Given the description of an element on the screen output the (x, y) to click on. 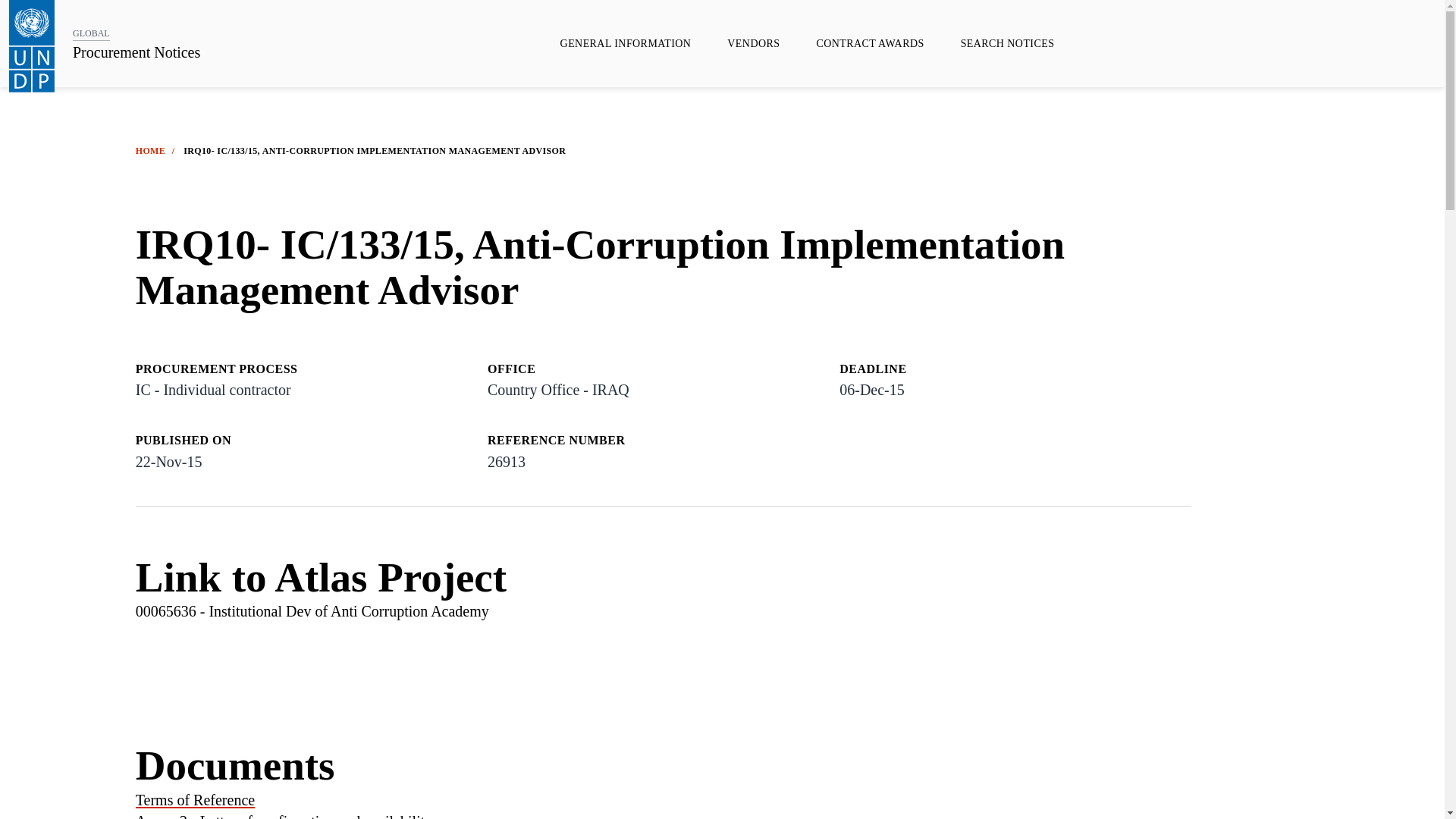
VENDORS (753, 43)
GLOBAL (91, 32)
Terms of Reference (194, 799)
GENERAL INFORMATION (625, 43)
Annex 2 - Letter of confirmation and availability (283, 816)
SEARCH NOTICES (1007, 43)
CONTRACT AWARDS (869, 43)
HOME (150, 150)
Procurement Notices (136, 52)
